Given the description of an element on the screen output the (x, y) to click on. 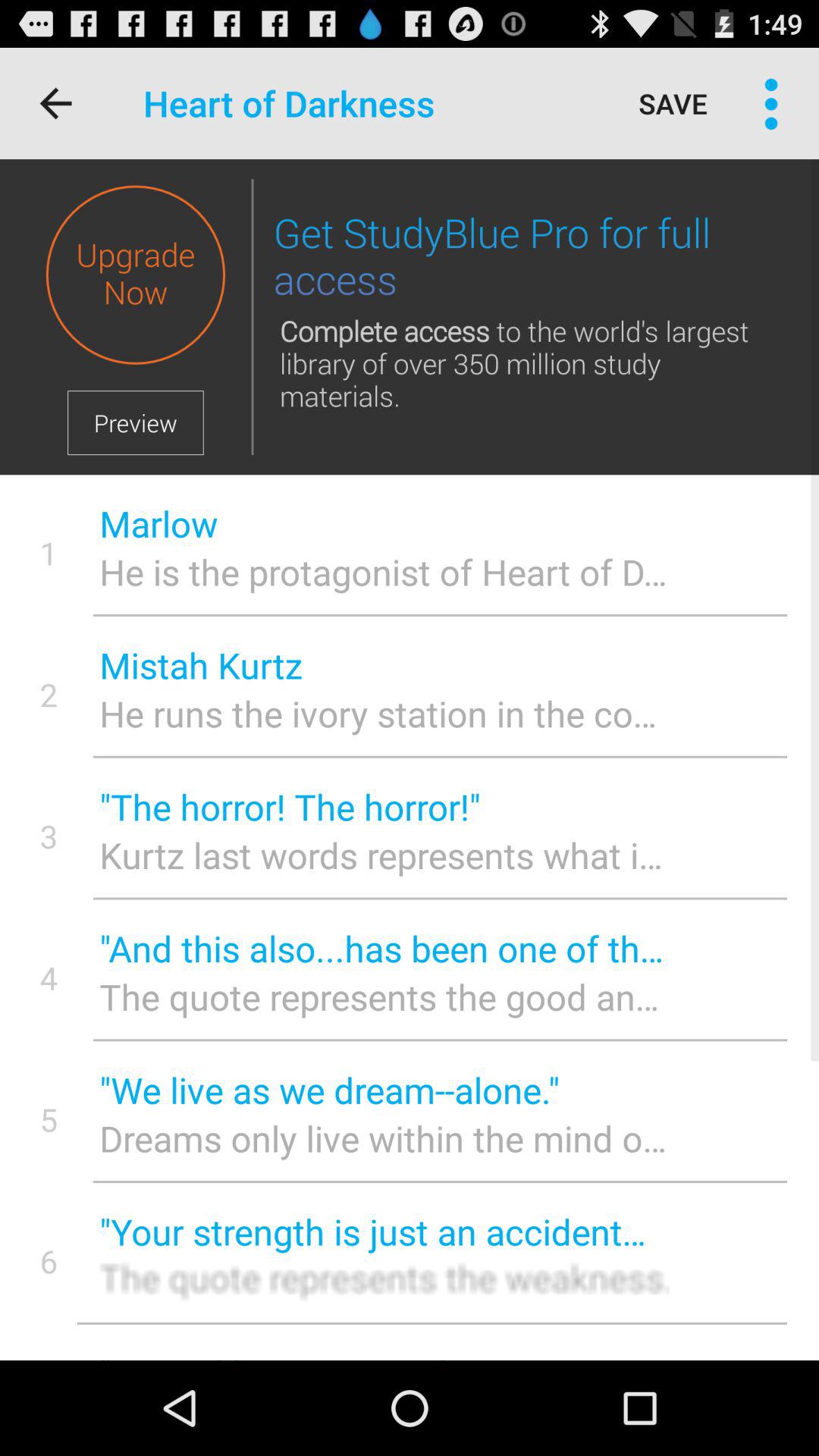
turn off icon above 2 (48, 552)
